Given the description of an element on the screen output the (x, y) to click on. 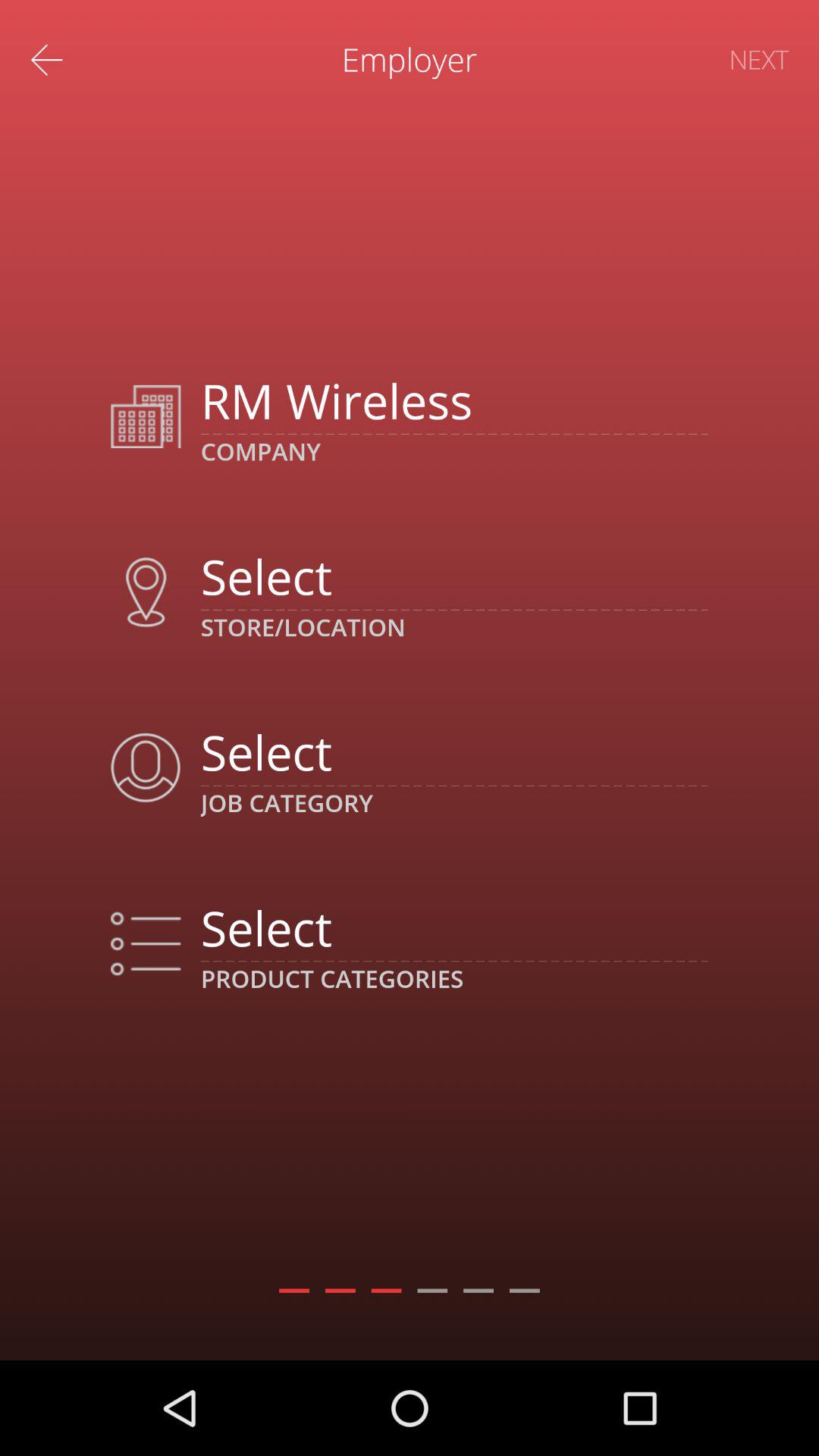
select job category (454, 751)
